Given the description of an element on the screen output the (x, y) to click on. 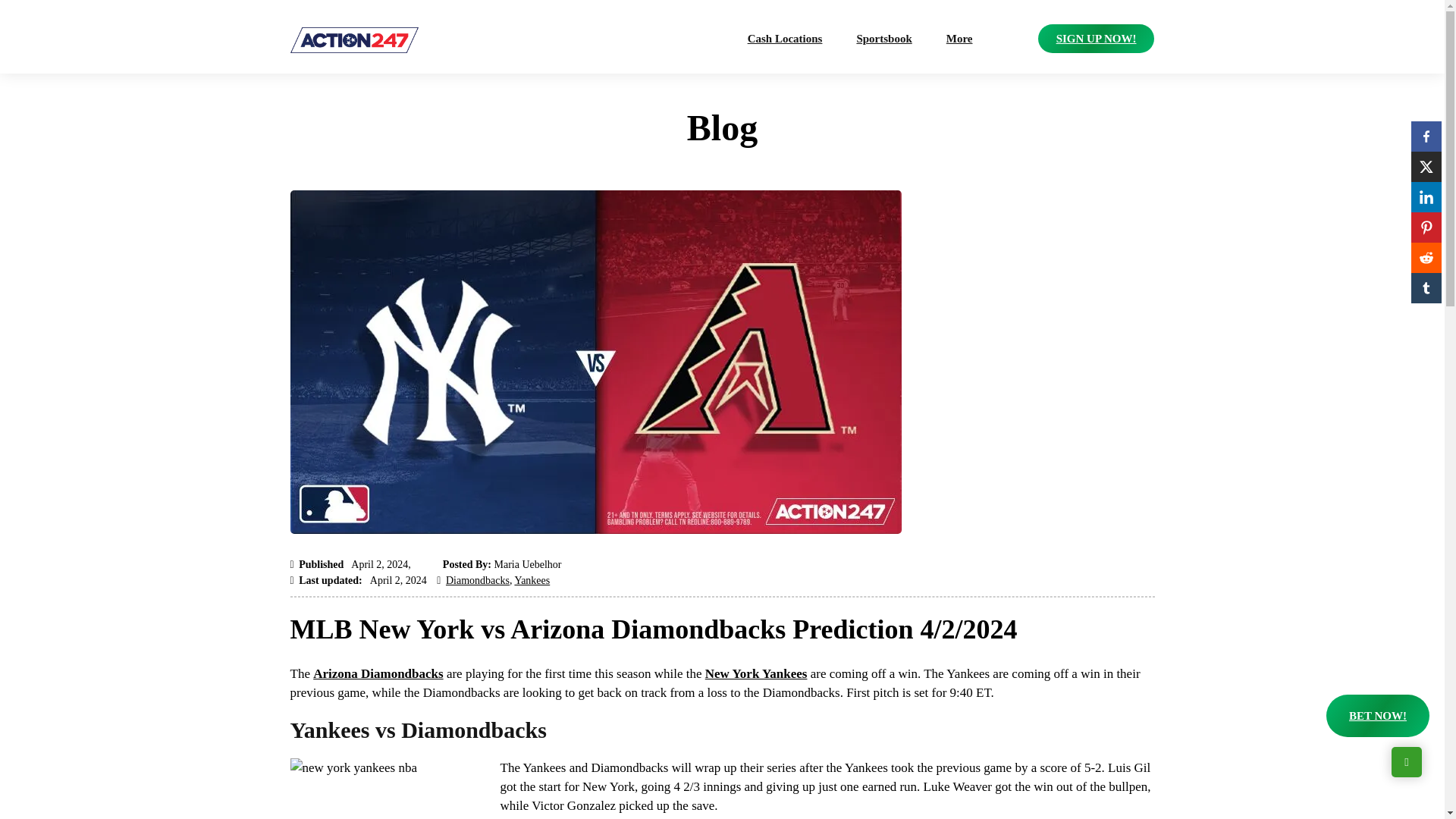
Pinterest (1425, 227)
Cash Locations (785, 38)
Facebook (1425, 136)
Yankees (531, 580)
More (959, 38)
Linkedin (1425, 196)
SIGN UP NOW! (1096, 38)
New York Yankees (756, 673)
Reddit (1425, 257)
Tumblr (1425, 287)
